Given the description of an element on the screen output the (x, y) to click on. 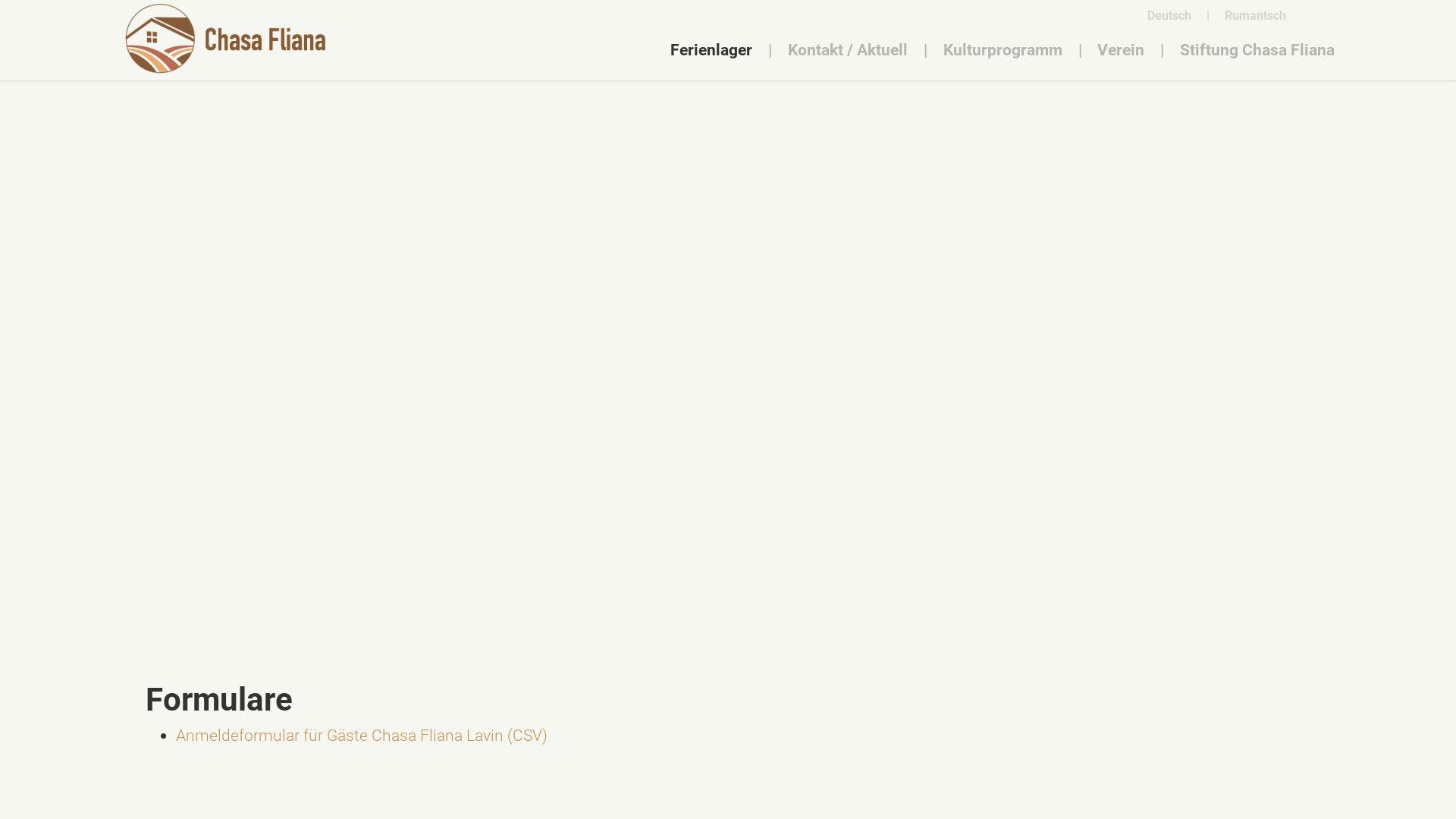
Ferienlager Element type: text (711, 49)
Stiftung Chasa Fliana Element type: text (1256, 49)
Rumantsch Element type: text (1255, 15)
Deutsch Element type: text (1169, 15)
Kontakt / Aktuell Element type: text (847, 49)
Verein Element type: text (1120, 49)
Kulturprogramm Element type: text (1002, 49)
